Given the description of an element on the screen output the (x, y) to click on. 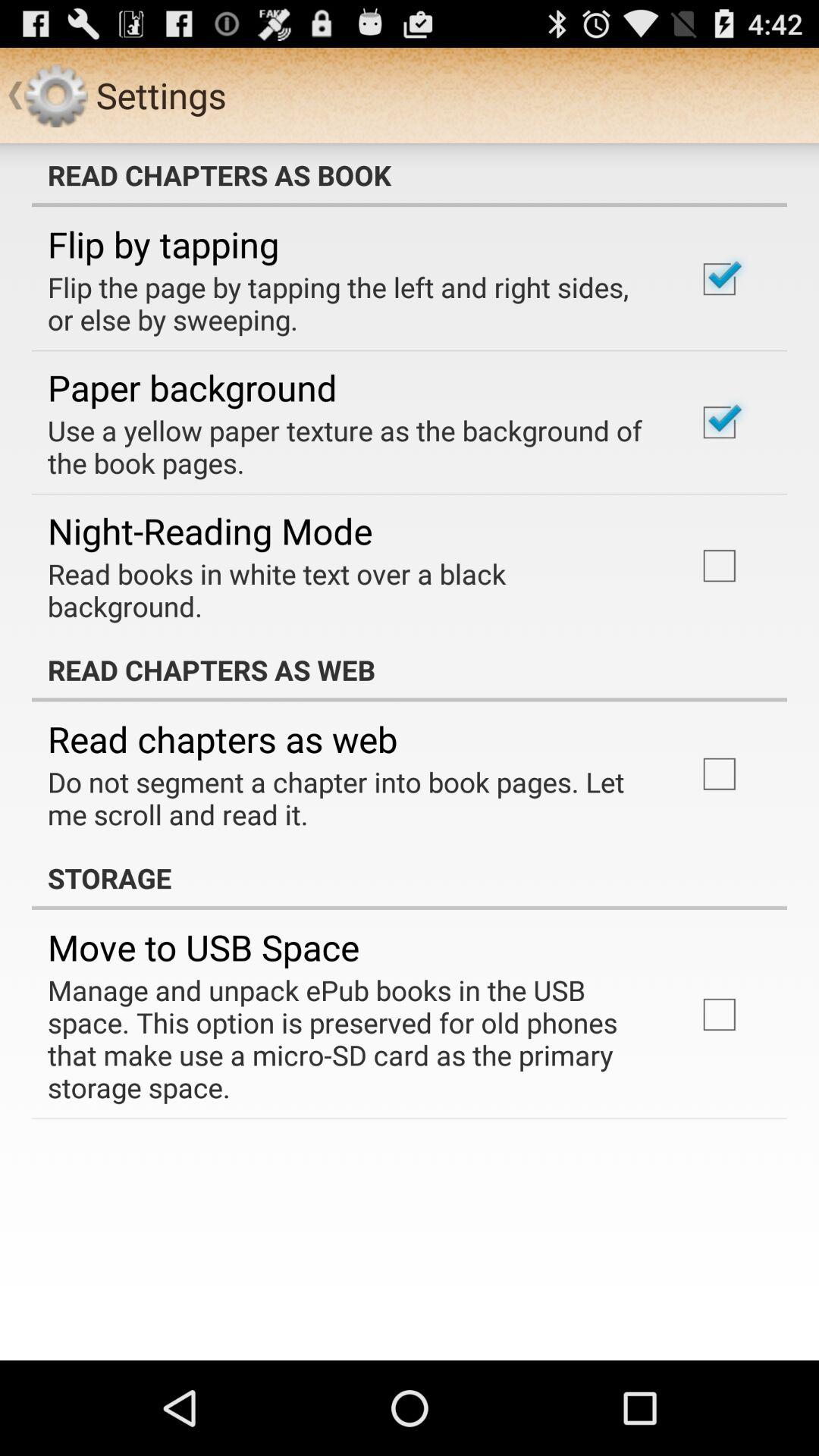
open flip the page item (351, 303)
